Given the description of an element on the screen output the (x, y) to click on. 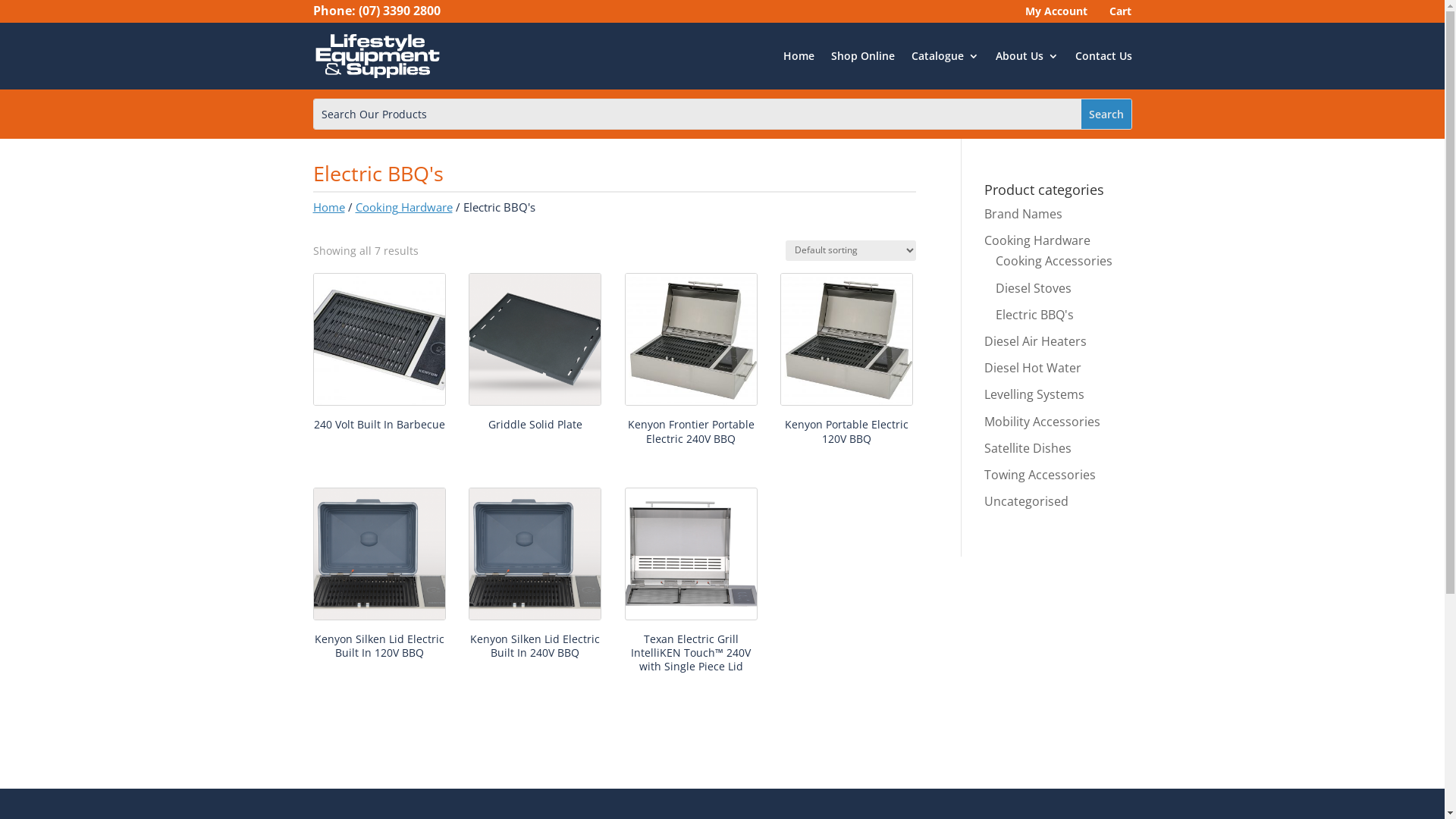
Kenyon Silken Lid Electric Built In 120V BBQ Element type: text (378, 576)
Kenyon Silken Lid Electric Built In 240V BBQ Element type: text (534, 576)
Uncategorised Element type: text (1026, 500)
Shop Online Element type: text (862, 55)
Brand Names Element type: text (1023, 213)
Contact Us Element type: text (1103, 55)
Satellite Dishes Element type: text (1027, 447)
Cooking Hardware Element type: text (402, 206)
Catalogue Element type: text (945, 55)
Search Element type: text (1106, 113)
Home Element type: text (328, 206)
Electric BBQ's Element type: text (1034, 314)
Griddle Solid Plate Element type: text (534, 355)
My Account Element type: text (1053, 14)
Cooking Accessories Element type: text (1053, 260)
Diesel Stoves Element type: text (1033, 287)
Diesel Hot Water Element type: text (1032, 367)
Cart Element type: text (1117, 14)
Diesel Air Heaters Element type: text (1035, 340)
About Us Element type: text (1025, 55)
Mobility Accessories Element type: text (1042, 420)
Towing Accessories Element type: text (1039, 474)
Kenyon Frontier Portable Electric 240V BBQ Element type: text (690, 362)
Kenyon Portable Electric 120V BBQ Element type: text (846, 362)
240 Volt Built In Barbecue Element type: text (378, 355)
Levelling Systems Element type: text (1034, 393)
Home Element type: text (797, 55)
Cooking Hardware Element type: text (1037, 240)
